Given the description of an element on the screen output the (x, y) to click on. 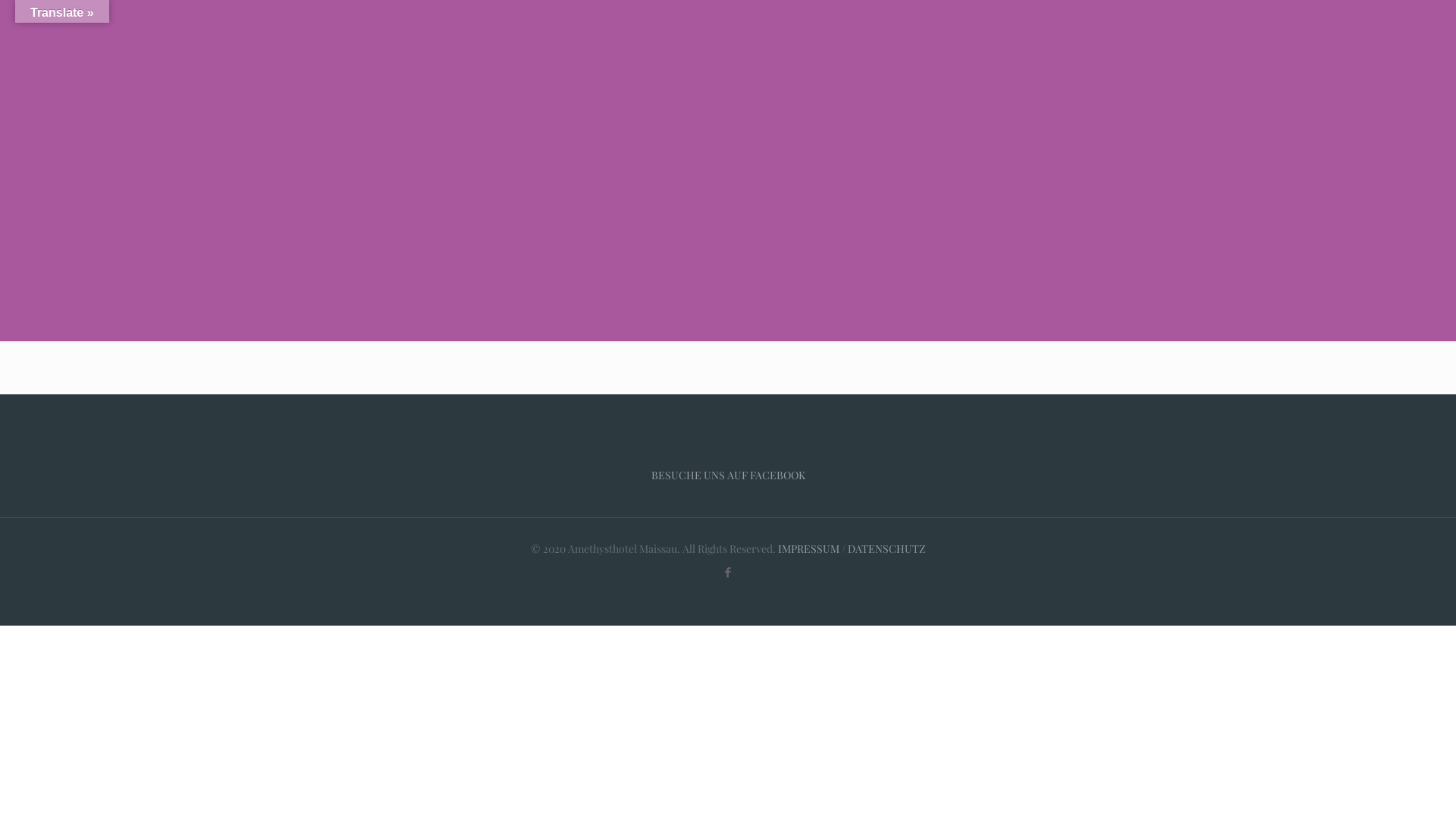
BESUCHE UNS AUF FACEBOOK Element type: text (727, 474)
DATENSCHUTZ Element type: text (886, 548)
IMPRESSUM Element type: text (808, 548)
Facebook Element type: hover (728, 571)
